Given the description of an element on the screen output the (x, y) to click on. 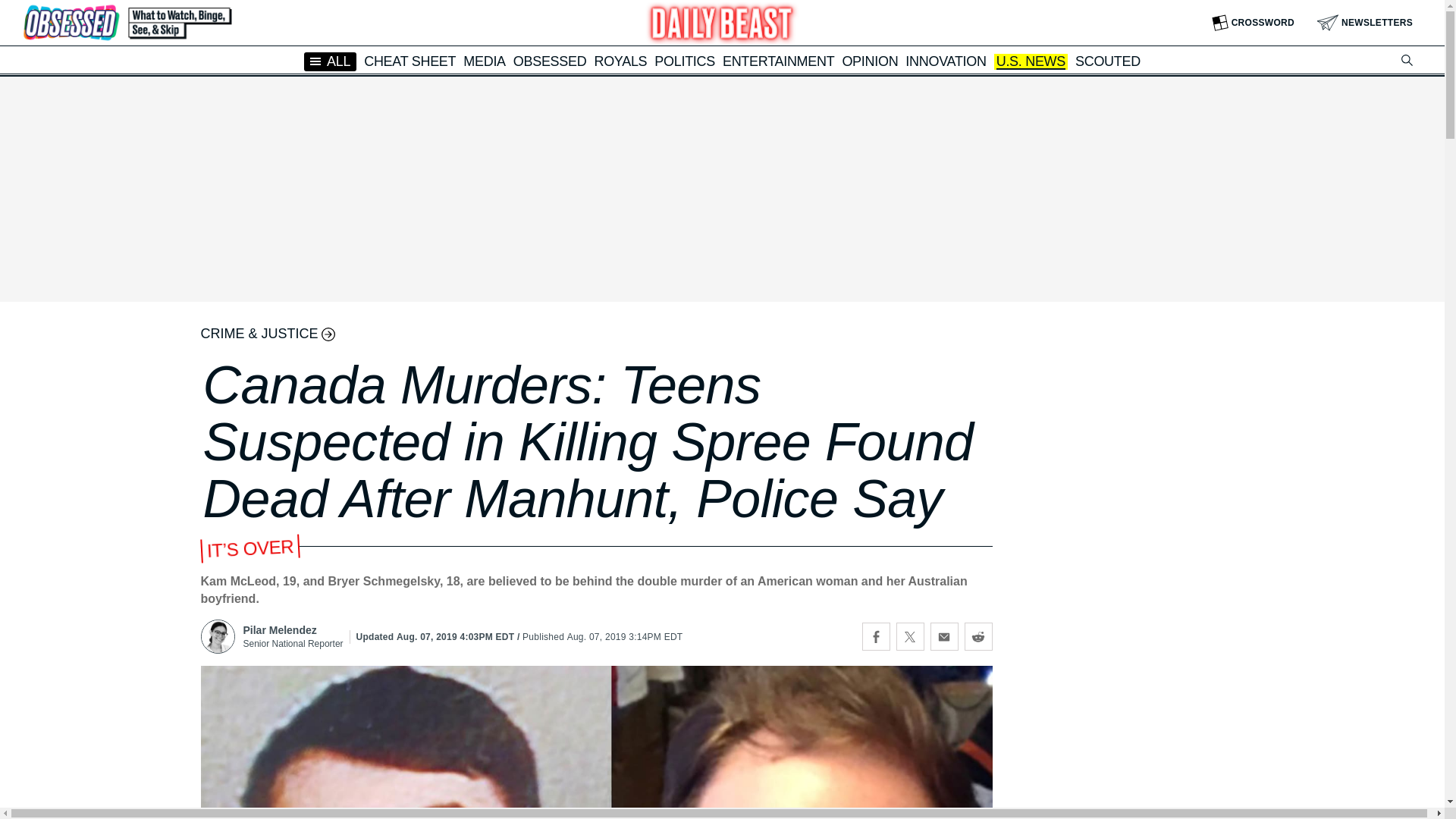
ENTERTAINMENT (778, 60)
NEWSLETTERS (1364, 22)
ROYALS (620, 60)
CROSSWORD (1252, 22)
CHEAT SHEET (409, 60)
POLITICS (683, 60)
MEDIA (484, 60)
ALL (330, 60)
OPINION (869, 60)
SCOUTED (1107, 60)
